Given the description of an element on the screen output the (x, y) to click on. 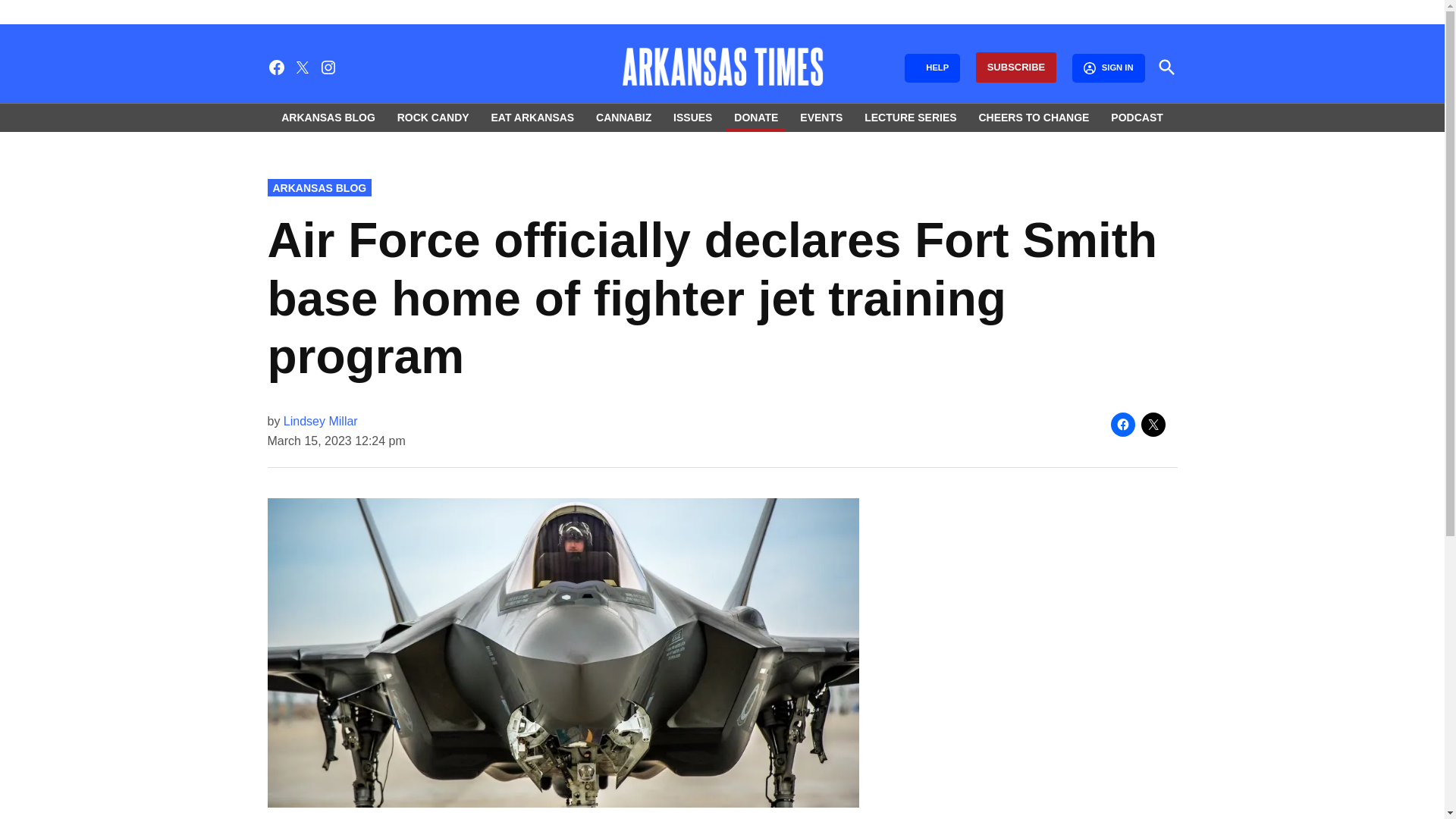
SIGN IN (1107, 68)
Twitter (301, 67)
HELP (931, 68)
Arkansas Times (1026, 77)
Instagram (327, 67)
Facebook Page (275, 67)
Click to share on X (1152, 424)
DONATE (756, 117)
EAT ARKANSAS (532, 117)
SUBSCRIBE (1016, 67)
